Given the description of an element on the screen output the (x, y) to click on. 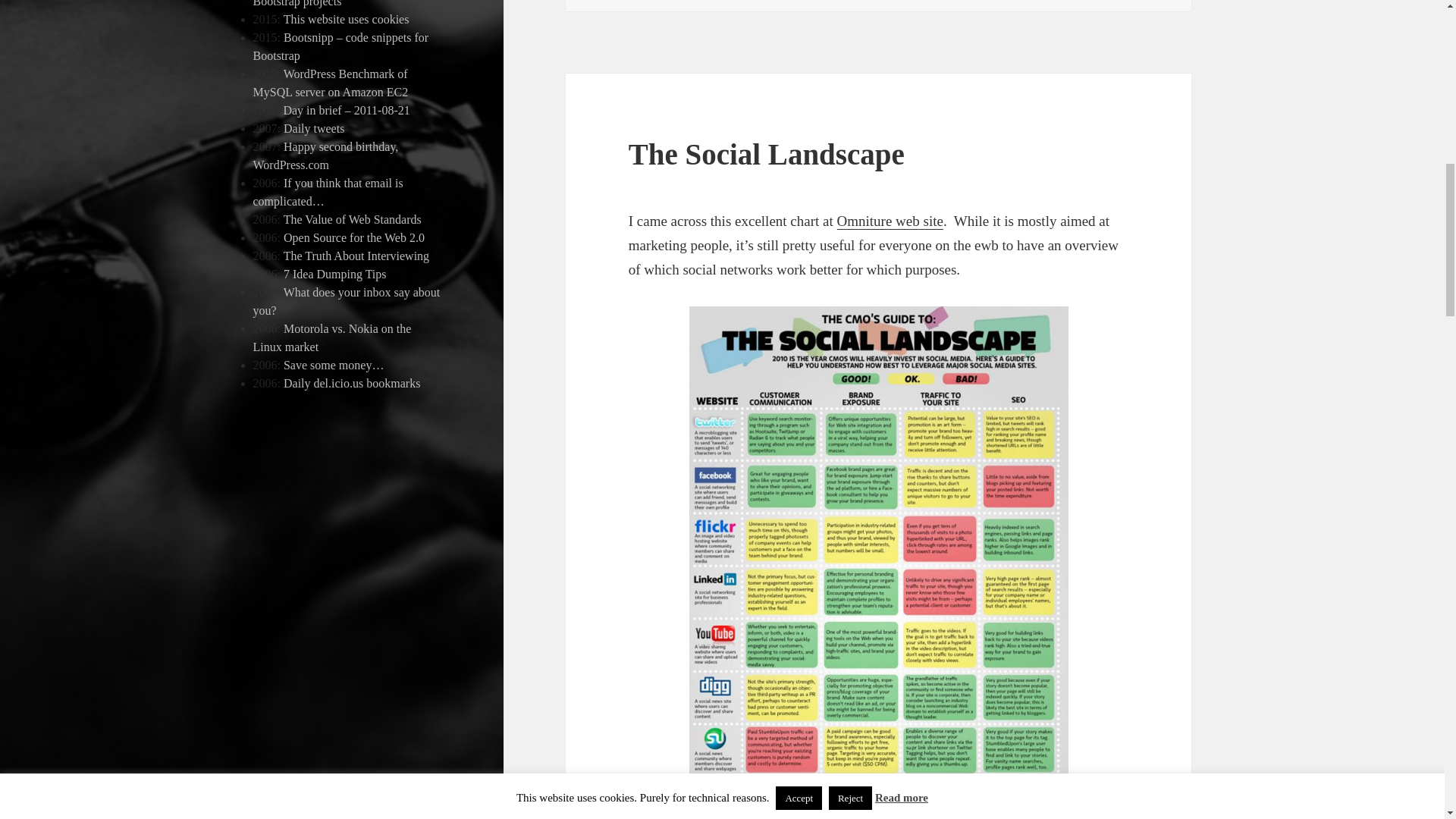
Daily tweets (313, 128)
Happy second birthday, WordPress.com (325, 155)
This website uses cookies (346, 19)
WordPress Benchmark of MySQL server on Amazon EC2 (331, 82)
What does your inbox say about you? (347, 300)
Daily del.icio.us bookmarks (351, 382)
Motorola vs. Nokia on the Linux market (332, 337)
The Value of Web Standards (352, 219)
7 Idea Dumping Tips (335, 273)
The Truth About Interviewing (356, 255)
